Given the description of an element on the screen output the (x, y) to click on. 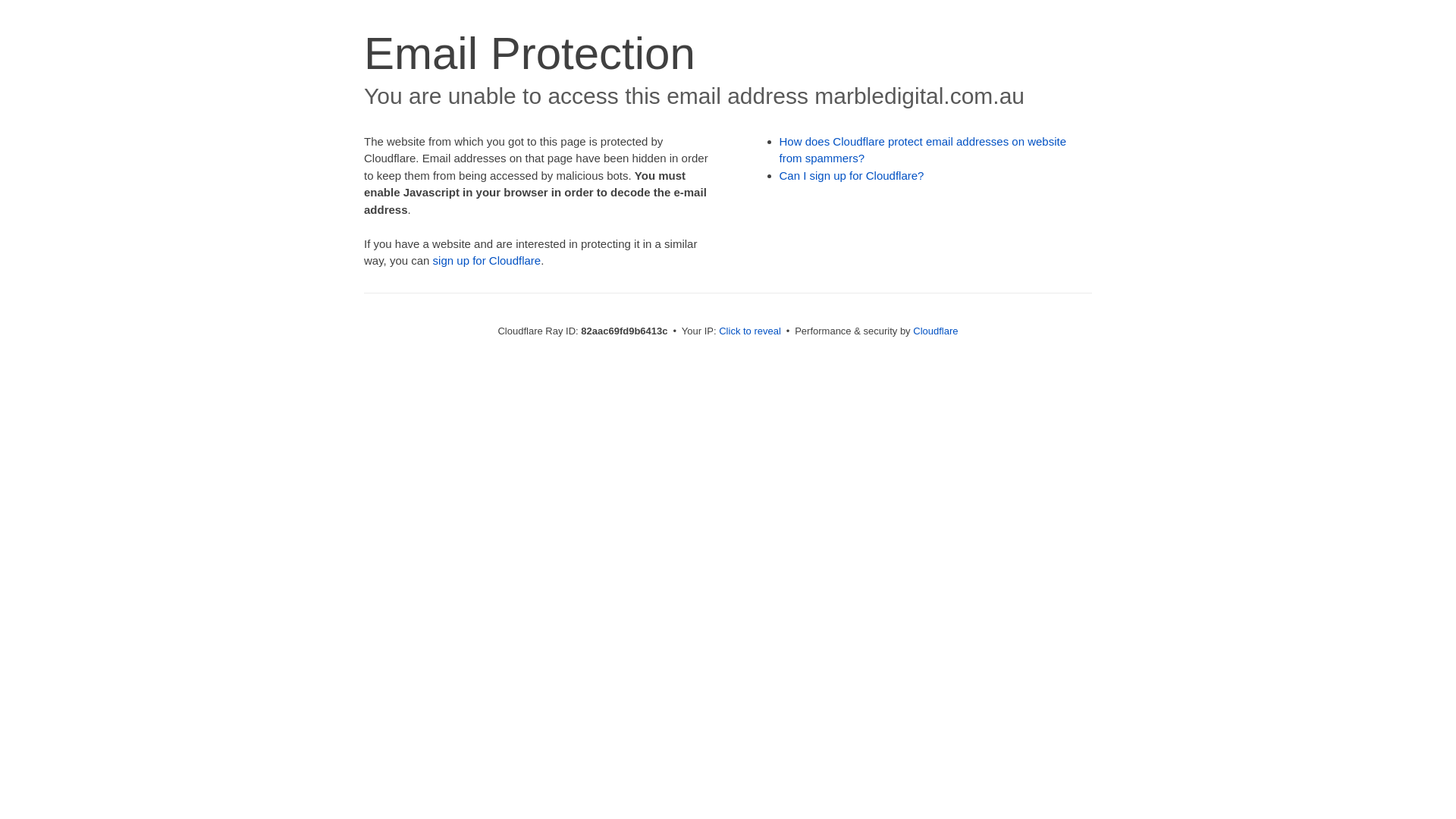
Can I sign up for Cloudflare? Element type: text (851, 175)
Cloudflare Element type: text (935, 330)
sign up for Cloudflare Element type: text (487, 260)
Click to reveal Element type: text (749, 330)
